Given the description of an element on the screen output the (x, y) to click on. 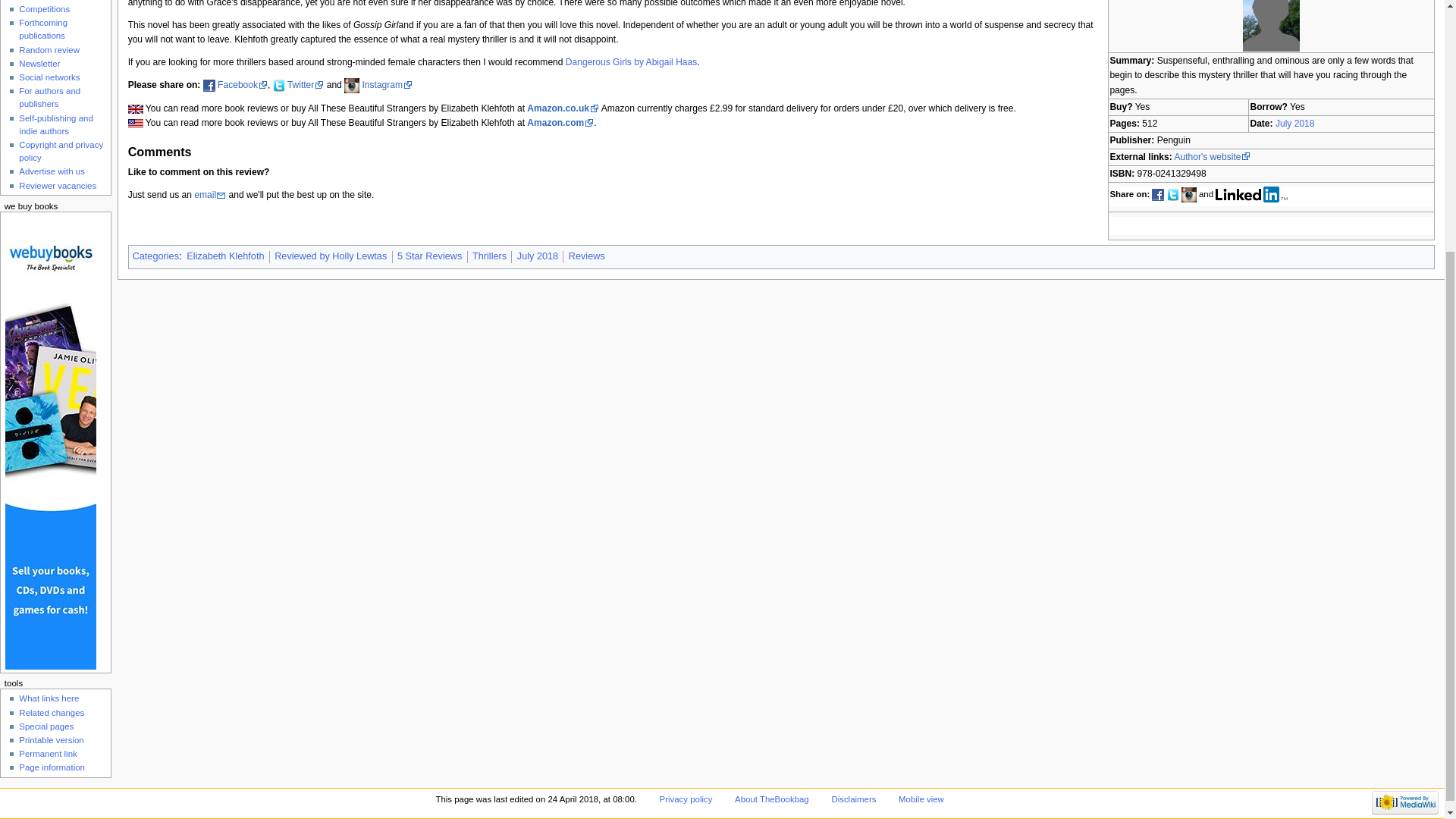
Amazon.com (560, 122)
Facebook (241, 84)
Elizabeth Klehfoth (224, 255)
email (209, 194)
Category:July 2018 (1294, 122)
Category:5 Star Reviews (429, 255)
Category:July 2018 (536, 255)
Author's website (1211, 156)
Category:Reviewed by Holly Lewtas (331, 255)
Category:Reviews (587, 255)
